Given the description of an element on the screen output the (x, y) to click on. 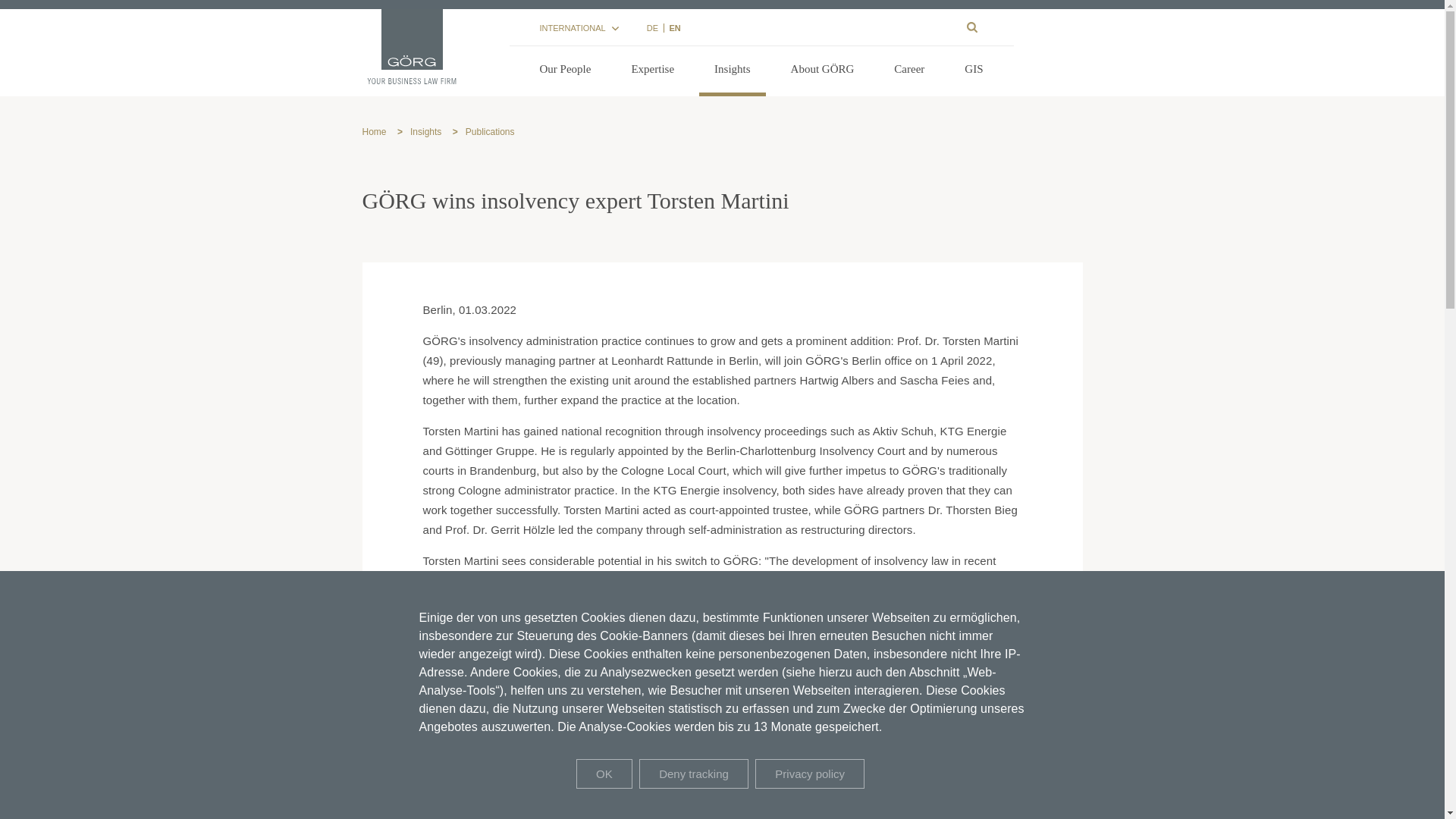
GIS (973, 70)
Our People (565, 70)
INTERNATIONAL (580, 27)
Expertise (651, 70)
Career (909, 70)
DE (651, 27)
Insights (731, 70)
